Given the description of an element on the screen output the (x, y) to click on. 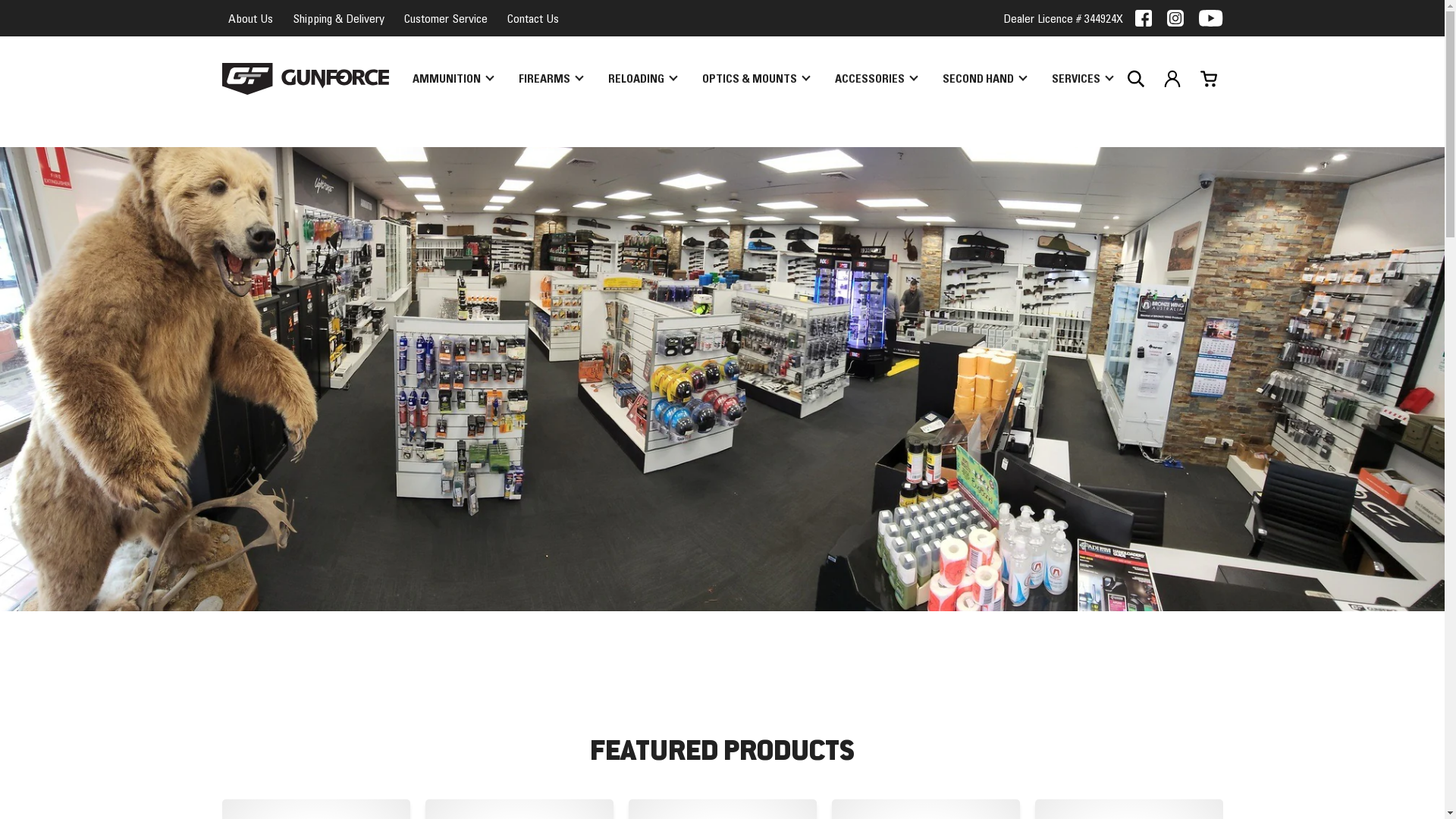
Youtube Element type: hover (1210, 17)
About Us Element type: text (249, 18)
Customer Service Element type: text (444, 18)
Contact Us Element type: text (532, 18)
OPTICS & MOUNTS Element type: text (755, 79)
Log In Element type: hover (1171, 78)
Facebook Element type: hover (1143, 17)
SERVICES Element type: text (1080, 79)
Shipping & Delivery Element type: text (338, 18)
ACCESSORIES Element type: text (875, 79)
Search Element type: hover (1134, 78)
RELOADING Element type: text (642, 79)
AMMUNITION Element type: text (452, 79)
Instagram Element type: hover (1175, 17)
Cart Element type: hover (1207, 78)
SECOND HAND Element type: text (983, 79)
FIREARMS Element type: text (550, 79)
